Given the description of an element on the screen output the (x, y) to click on. 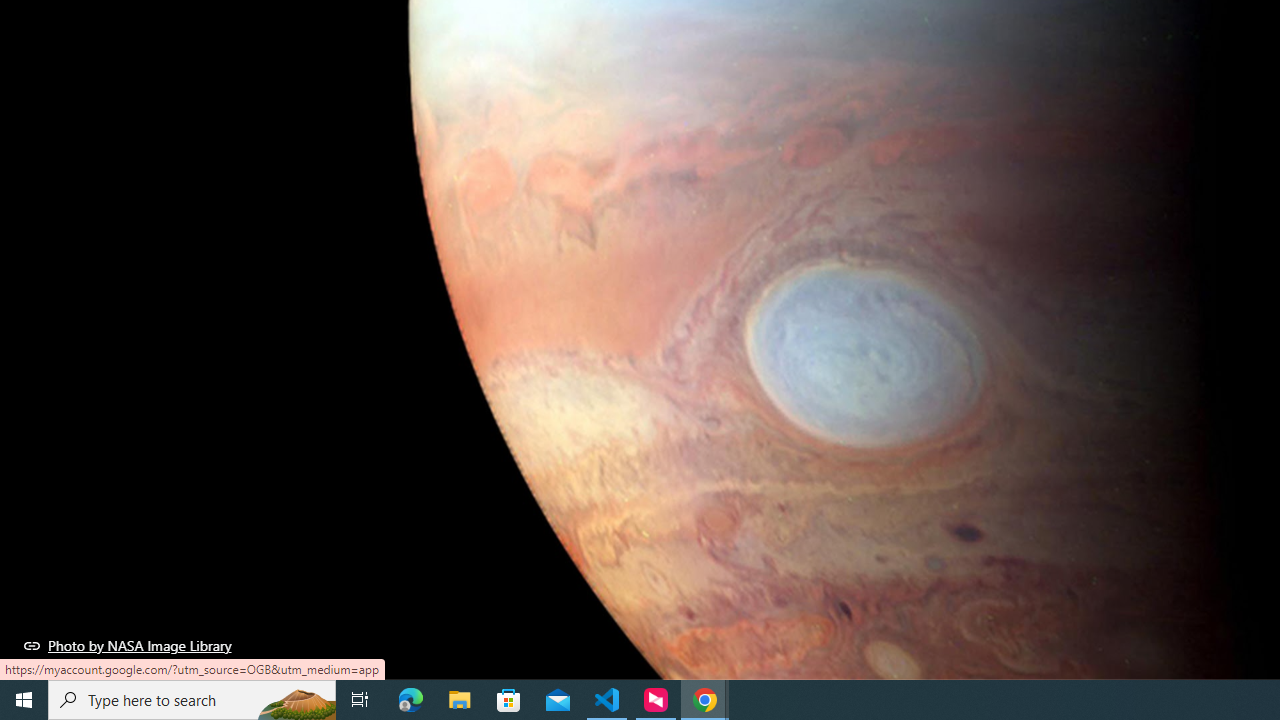
Photo by NASA Image Library (127, 645)
